Given the description of an element on the screen output the (x, y) to click on. 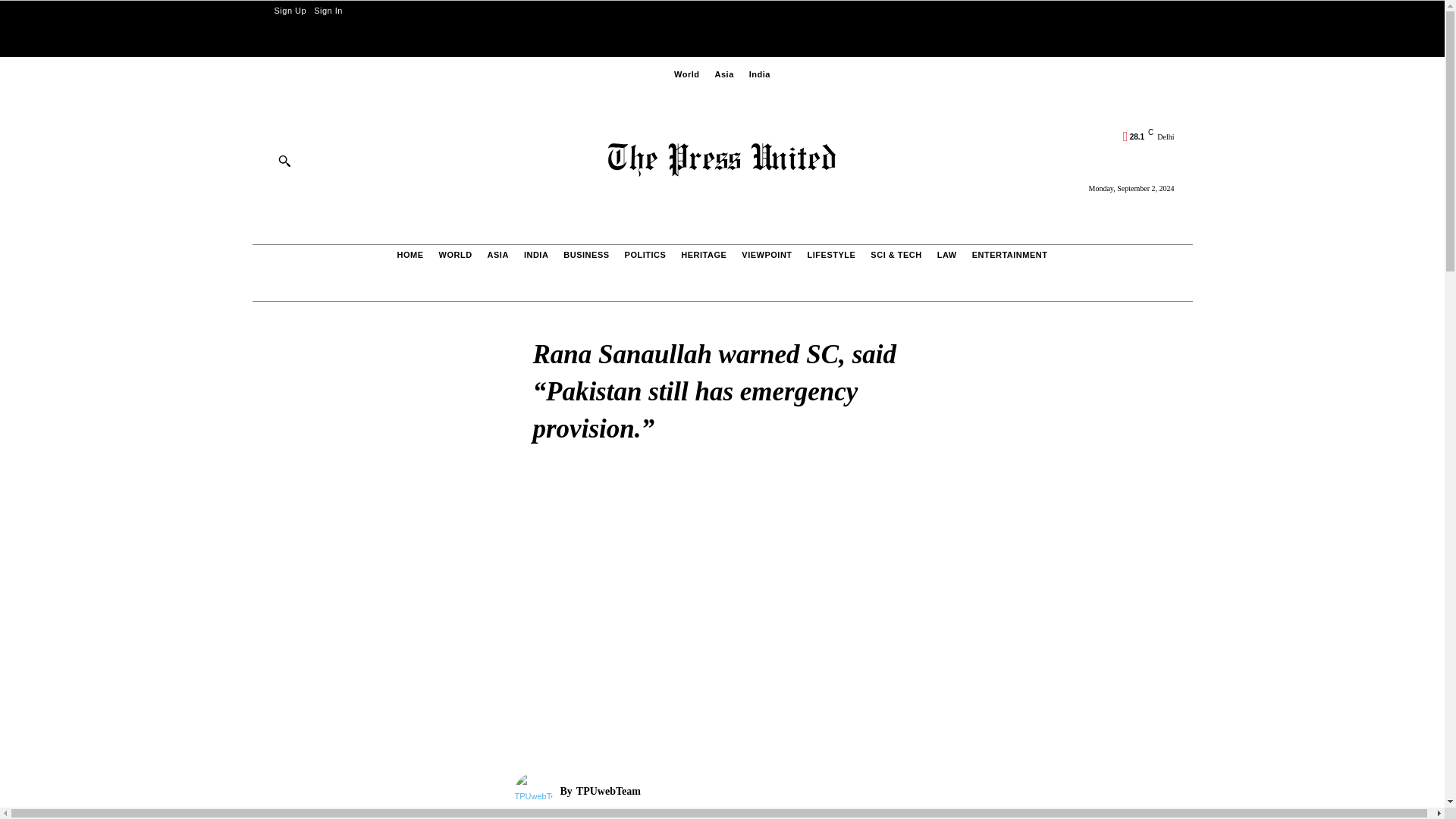
Asia (724, 74)
HERITAGE (703, 254)
INDIA (535, 254)
ENTERTAINMENT (1009, 254)
ASIA (497, 254)
LAW (946, 254)
WORLD (455, 254)
World (686, 74)
VIEWPOINT (766, 254)
Sign In (328, 10)
